Given the description of an element on the screen output the (x, y) to click on. 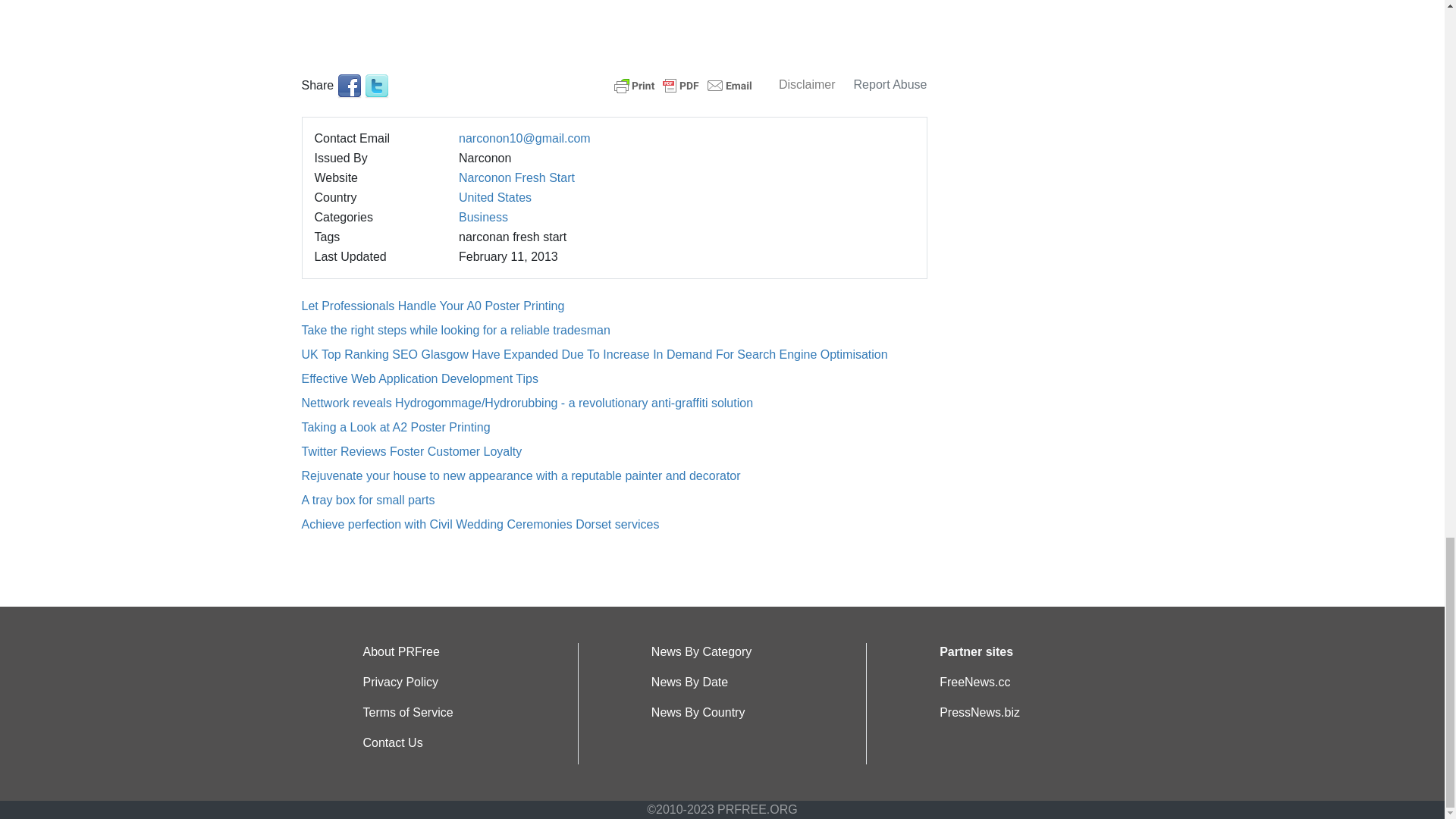
Business (483, 216)
Narconon Fresh Start (516, 177)
Take the right steps while looking for a reliable tradesman (455, 329)
About PRFree (400, 651)
Taking a Look at A2 Poster Printing (395, 427)
Printer Friendly and PDF (683, 83)
Report Abuse (890, 83)
Effective Web Application Development Tips (419, 378)
